Given the description of an element on the screen output the (x, y) to click on. 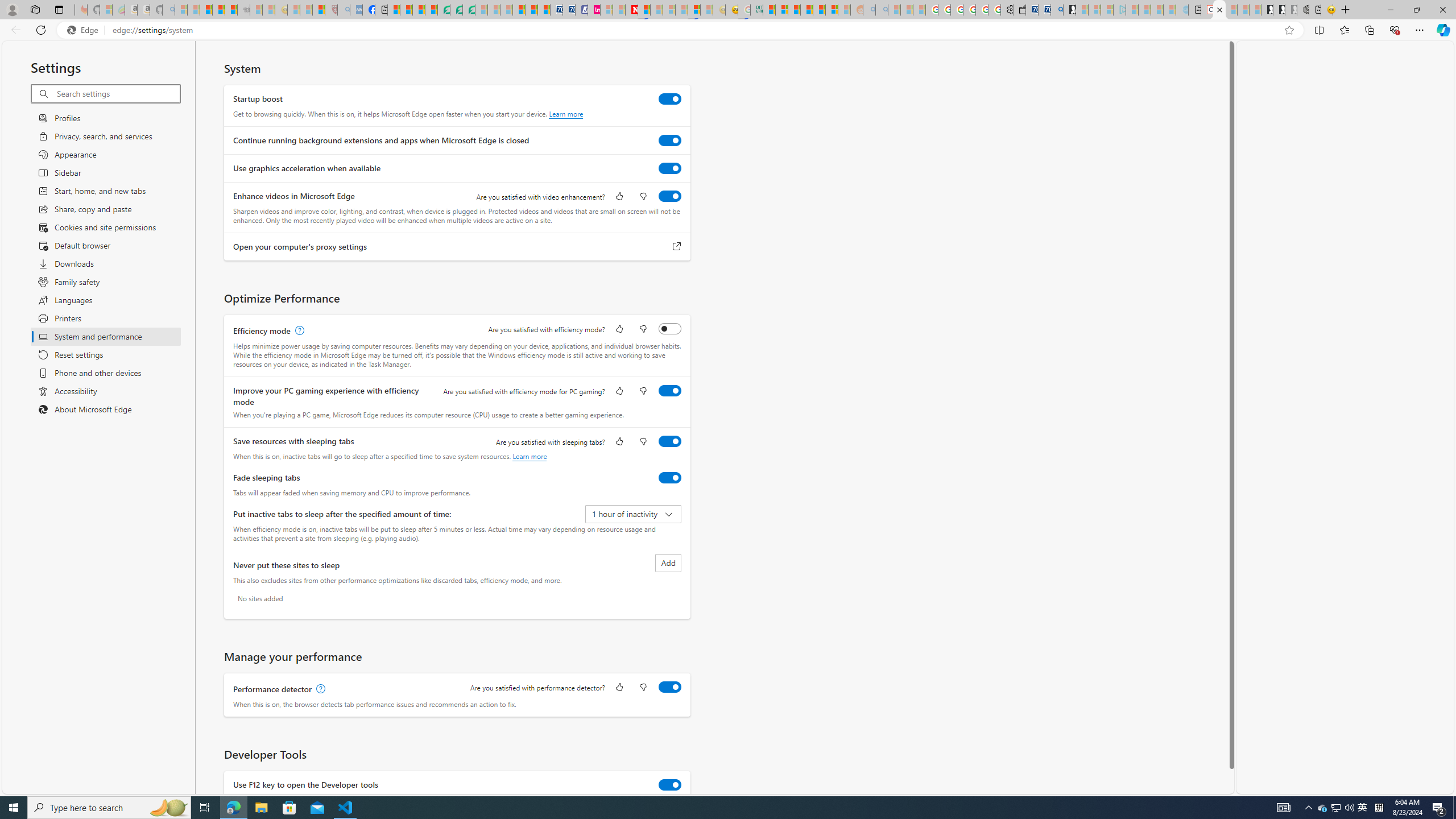
Fade sleeping tabs (669, 477)
